Given the description of an element on the screen output the (x, y) to click on. 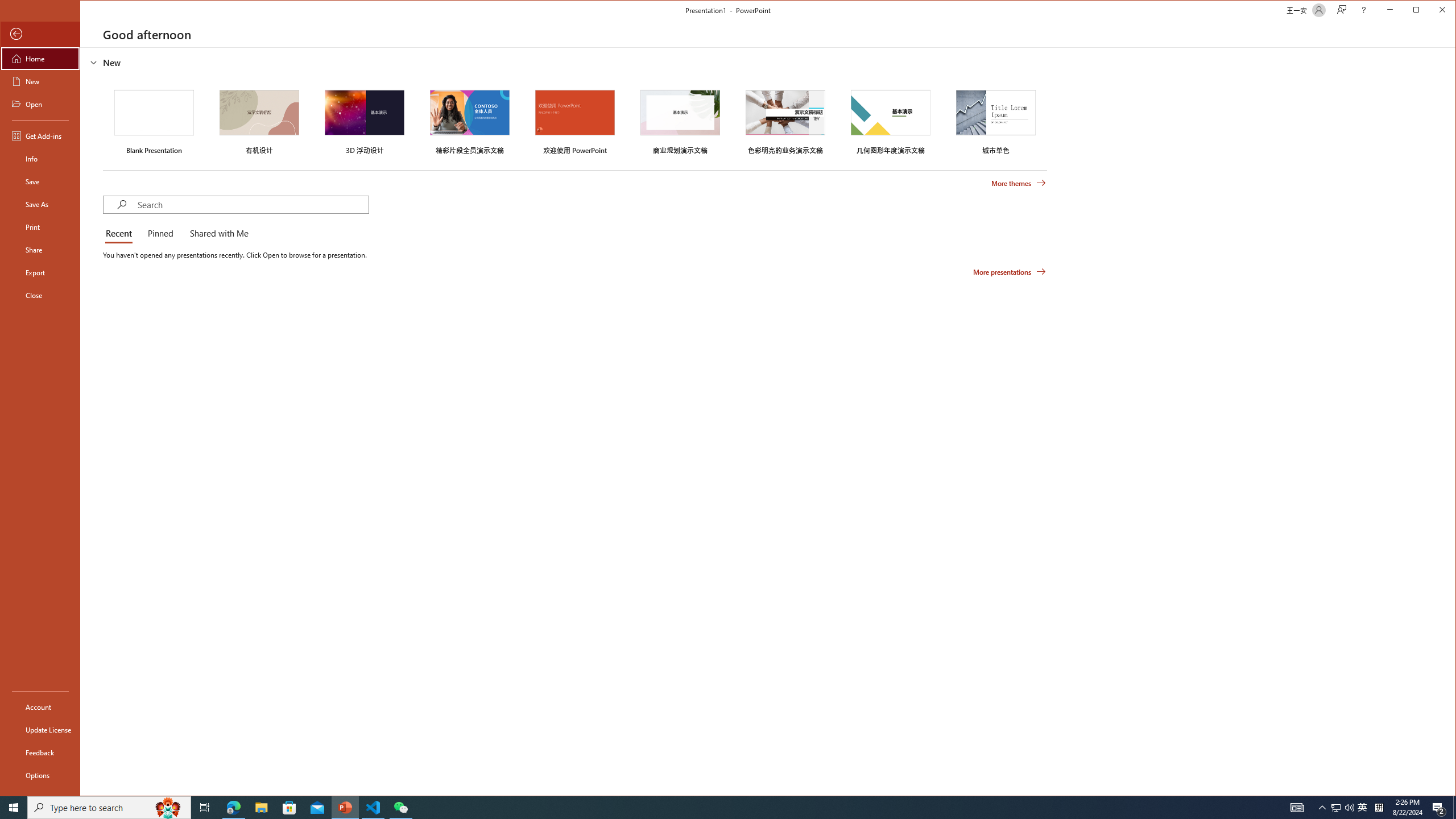
Options (40, 775)
Info (40, 158)
